Given the description of an element on the screen output the (x, y) to click on. 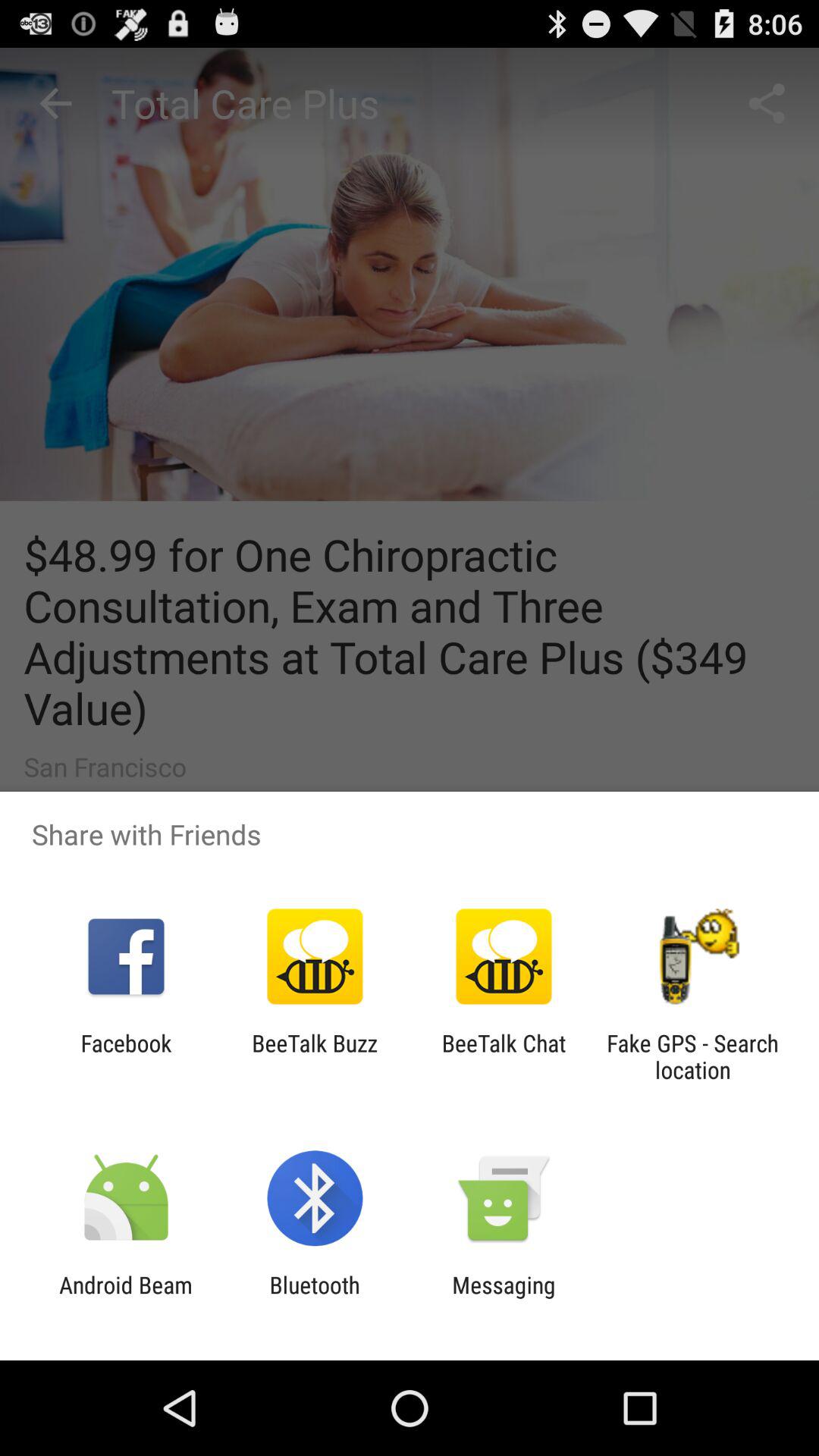
click the item to the left of beetalk buzz app (125, 1056)
